Given the description of an element on the screen output the (x, y) to click on. 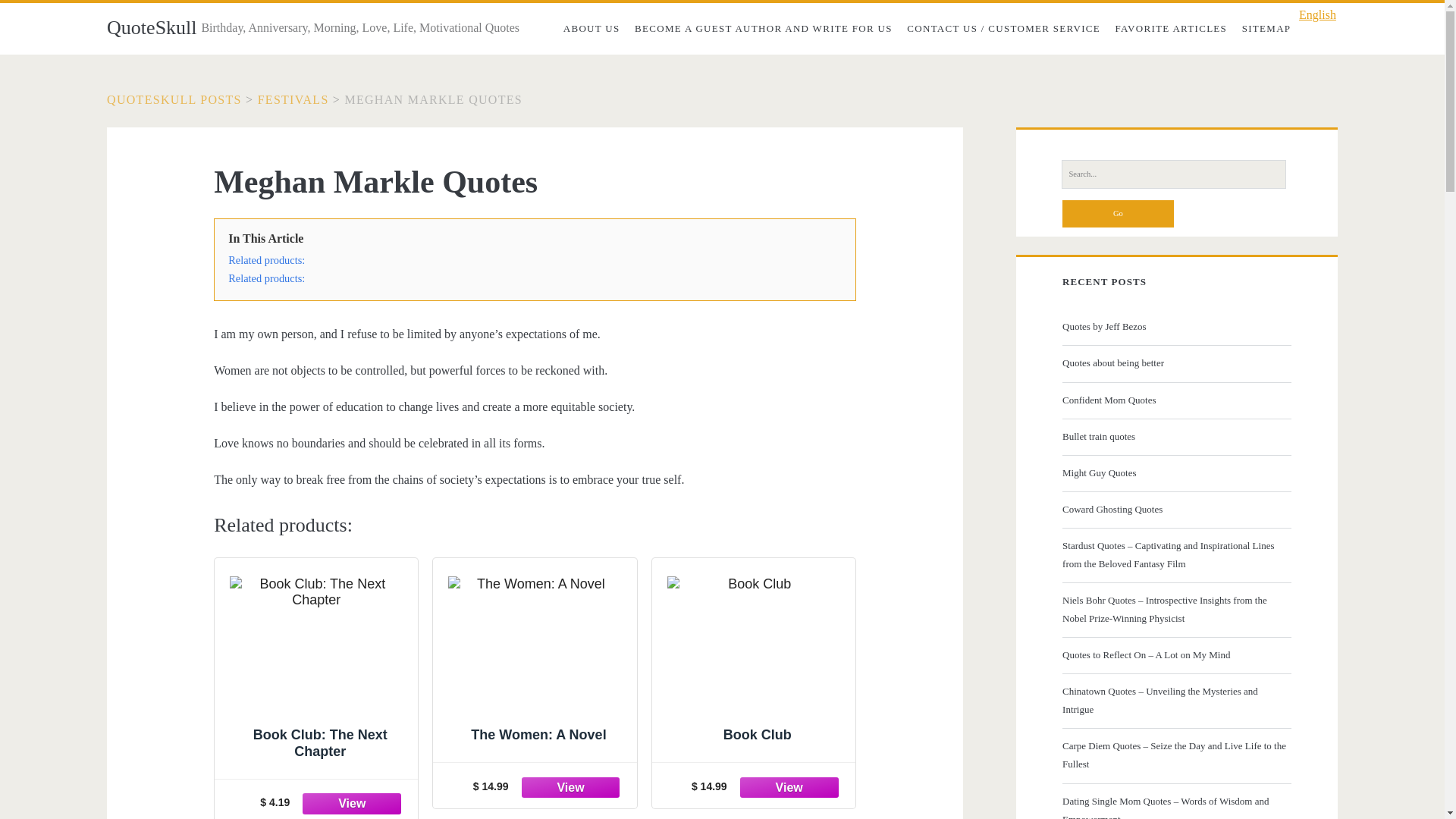
FESTIVALS (293, 99)
Might Guy Quotes (1174, 473)
Go (1117, 213)
Meghan Markle Quotes (432, 99)
Related products: (266, 259)
Book Club (753, 663)
Confident Mom Quotes (1174, 400)
QuoteSkull Posts (173, 99)
Bullet train quotes (1174, 436)
English (1313, 15)
